Given the description of an element on the screen output the (x, y) to click on. 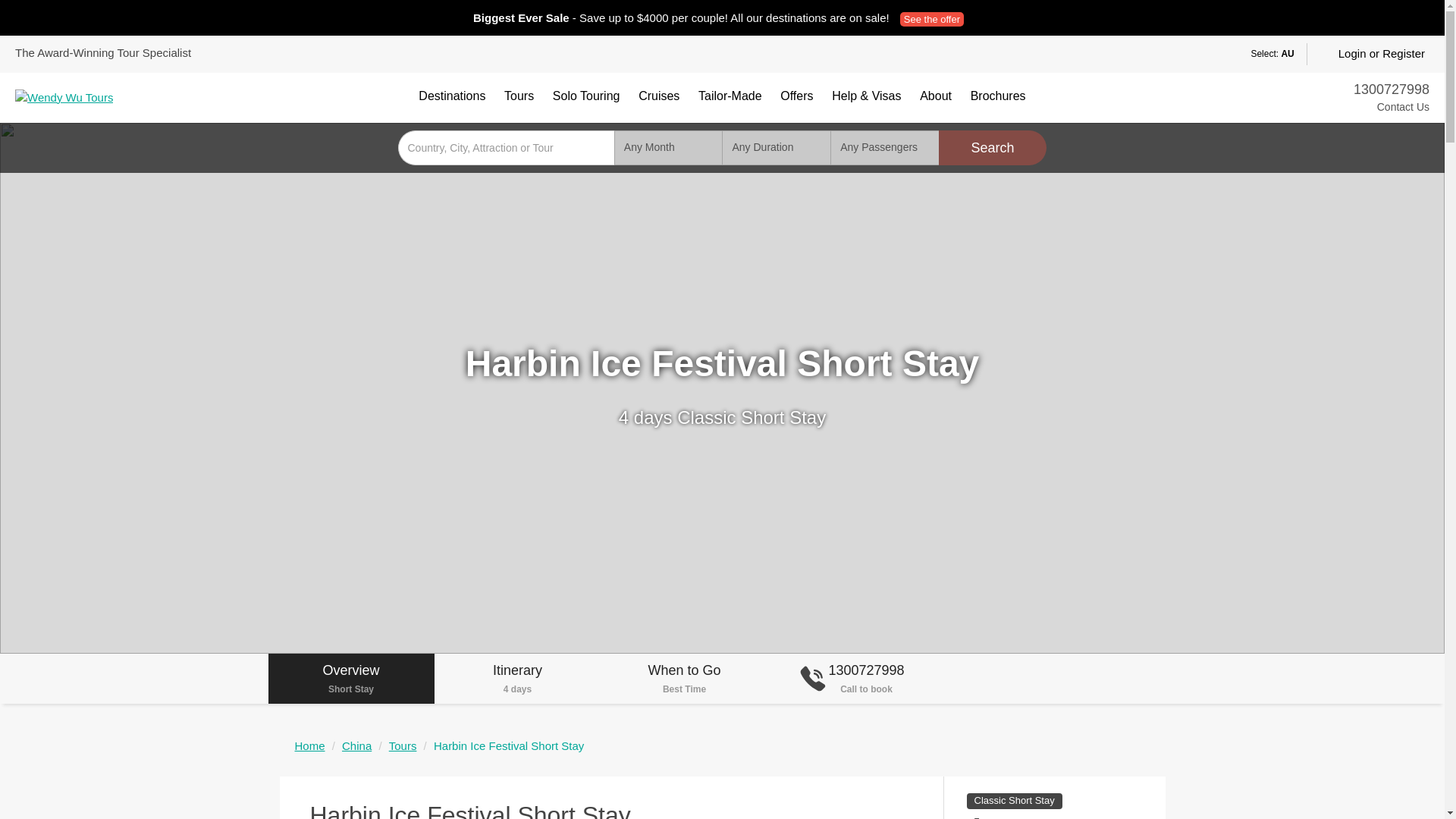
1300727998 (1391, 89)
Destinations (451, 96)
See the offer (931, 19)
Contact Us (1391, 107)
Login or Register (1371, 54)
Select: AU (1261, 54)
